Given the description of an element on the screen output the (x, y) to click on. 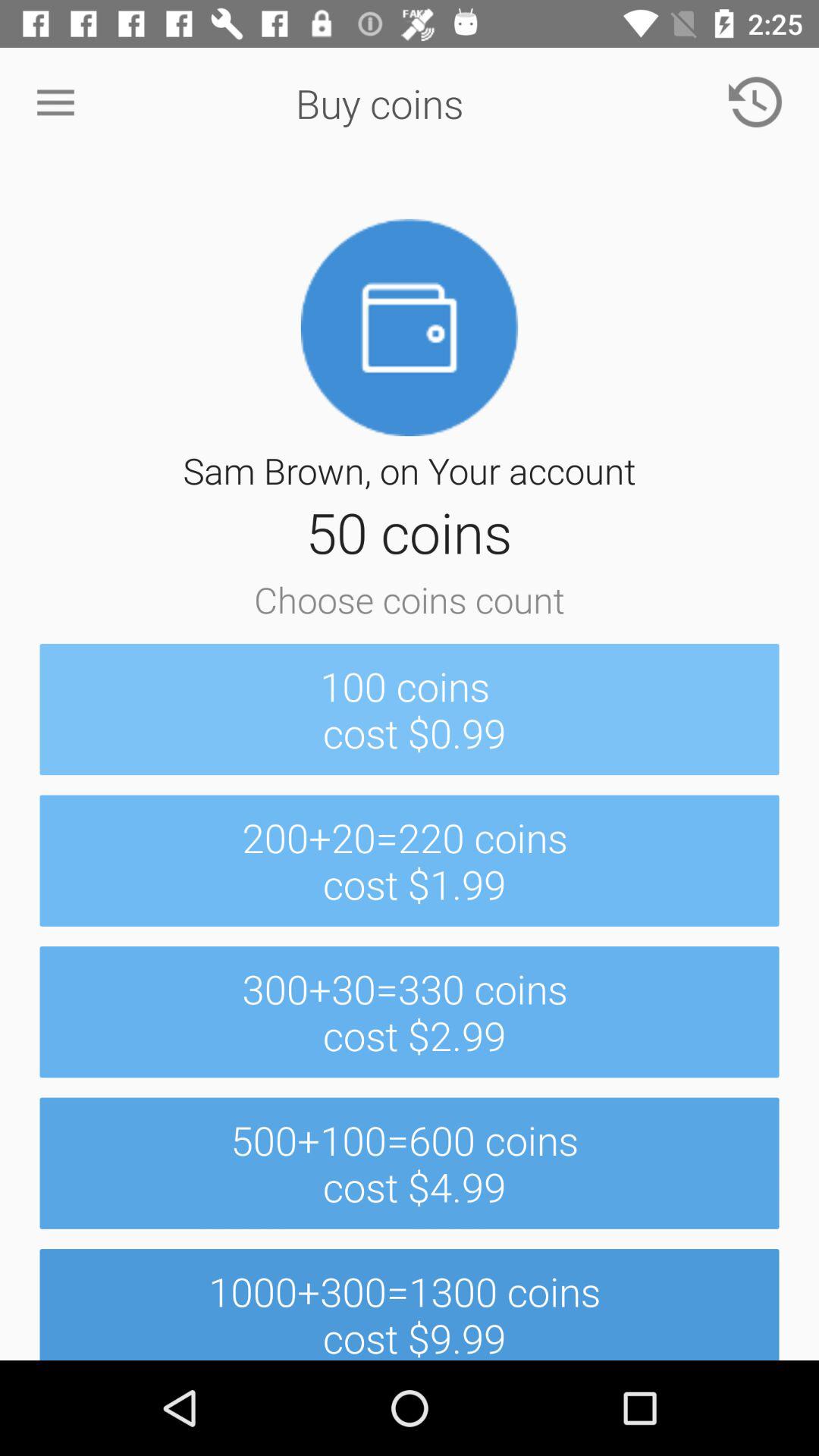
choose item below the 300 30 330 icon (409, 1163)
